Given the description of an element on the screen output the (x, y) to click on. 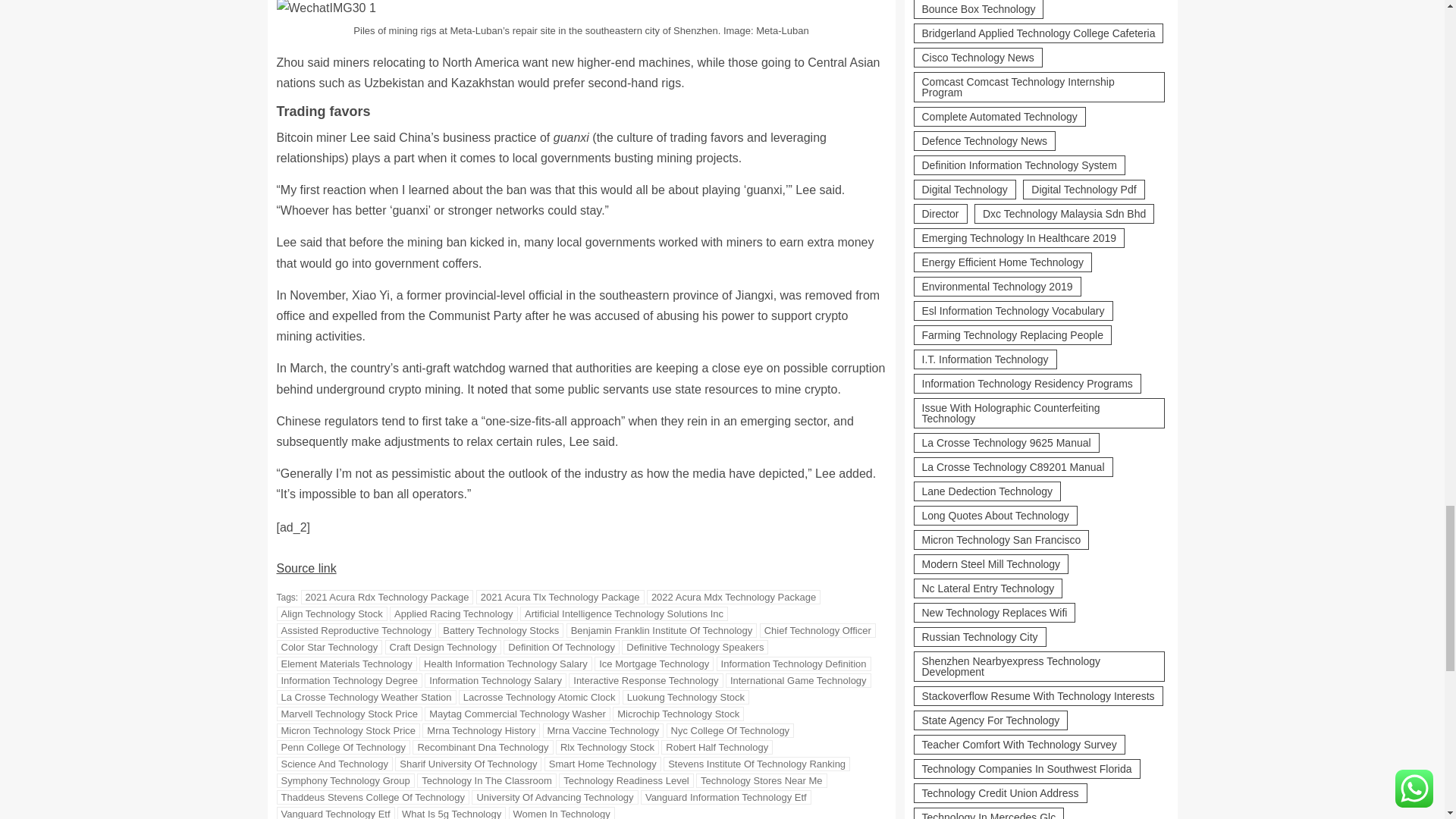
2022 Acura Mdx Technology Package (733, 596)
2021 Acura Tlx Technology Package (560, 596)
Artificial Intelligence Technology Solutions Inc (623, 613)
2021 Acura Rdx Technology Package (387, 596)
noted (490, 389)
Assisted Reproductive Technology (355, 630)
Align Technology Stock (331, 613)
Battery Technology Stocks (500, 630)
Applied Racing Technology (454, 613)
Source link (306, 567)
